Given the description of an element on the screen output the (x, y) to click on. 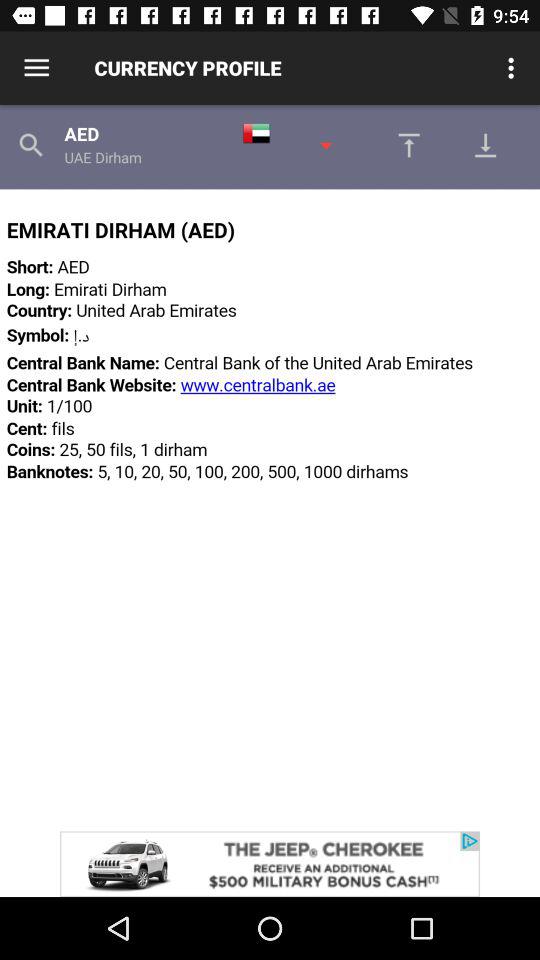
previous button (403, 145)
